Given the description of an element on the screen output the (x, y) to click on. 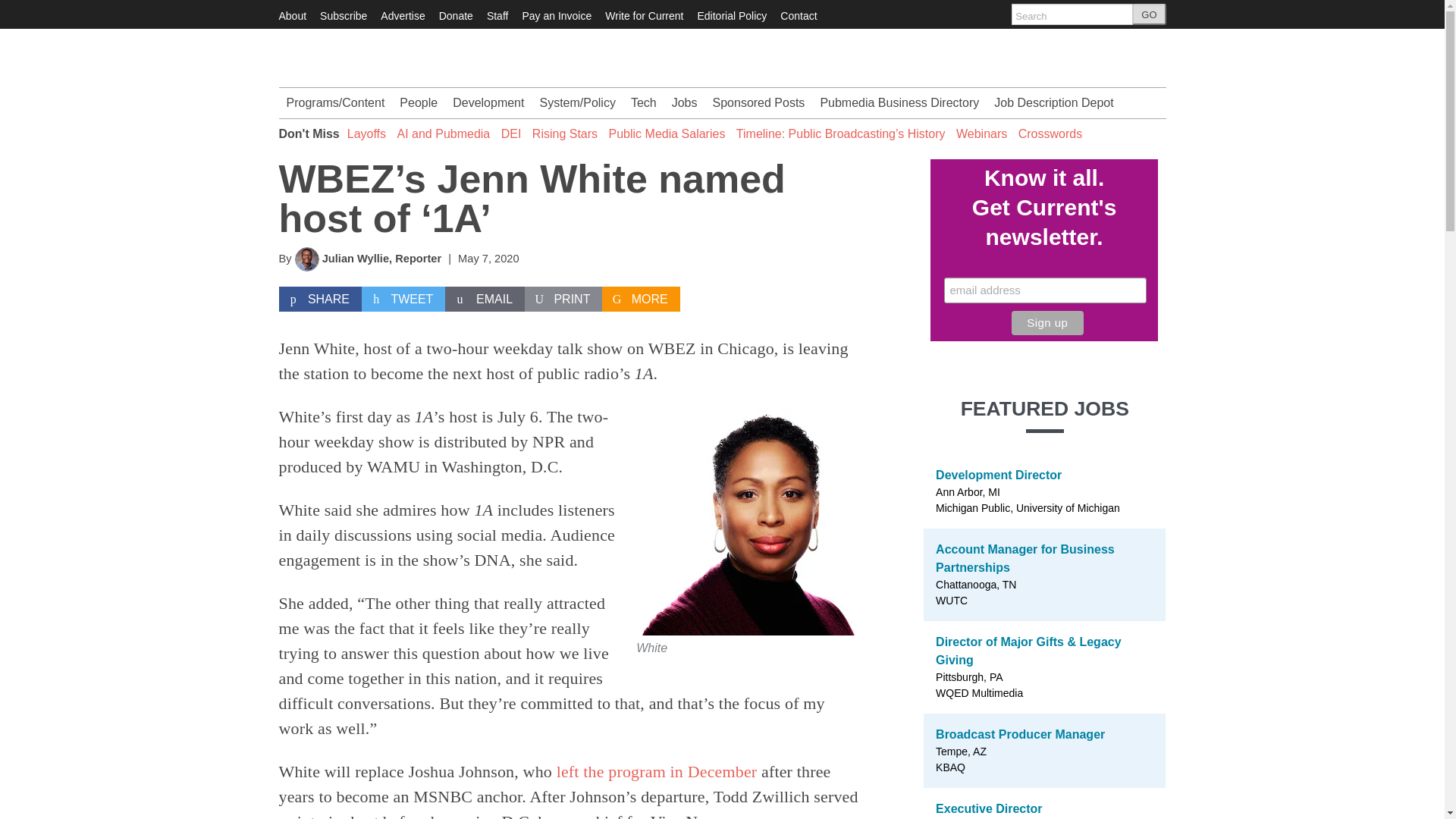
About (293, 15)
Donate (456, 15)
Read All Posts By Julian Wyllie (354, 258)
Sign up (1047, 322)
People (418, 102)
GO (1149, 14)
Staff (497, 15)
Print this article (563, 299)
Pay an Invoice (556, 15)
Write for Current (643, 15)
